Given the description of an element on the screen output the (x, y) to click on. 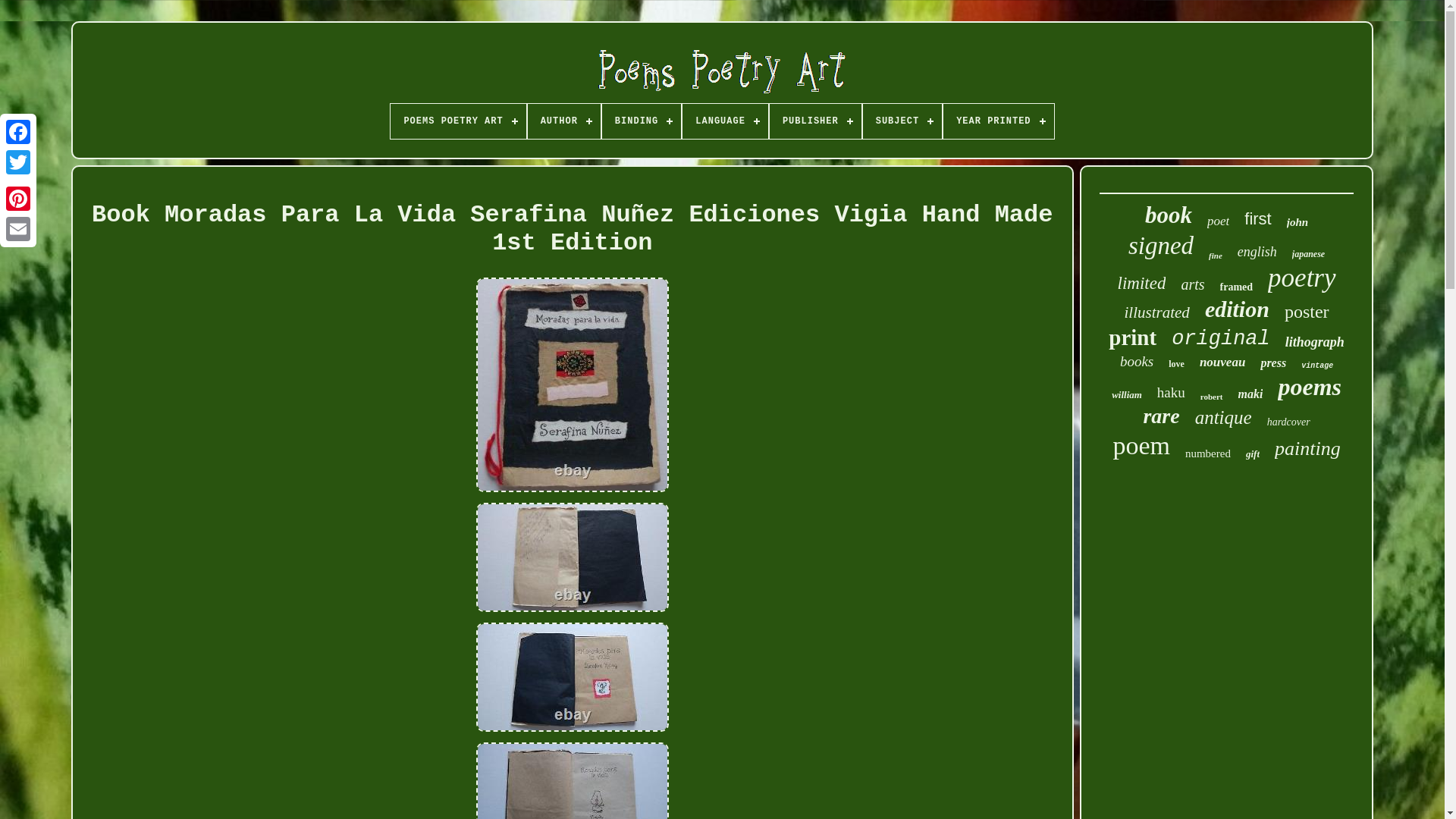
BINDING (641, 121)
POEMS POETRY ART (457, 121)
AUTHOR (563, 121)
